Given the description of an element on the screen output the (x, y) to click on. 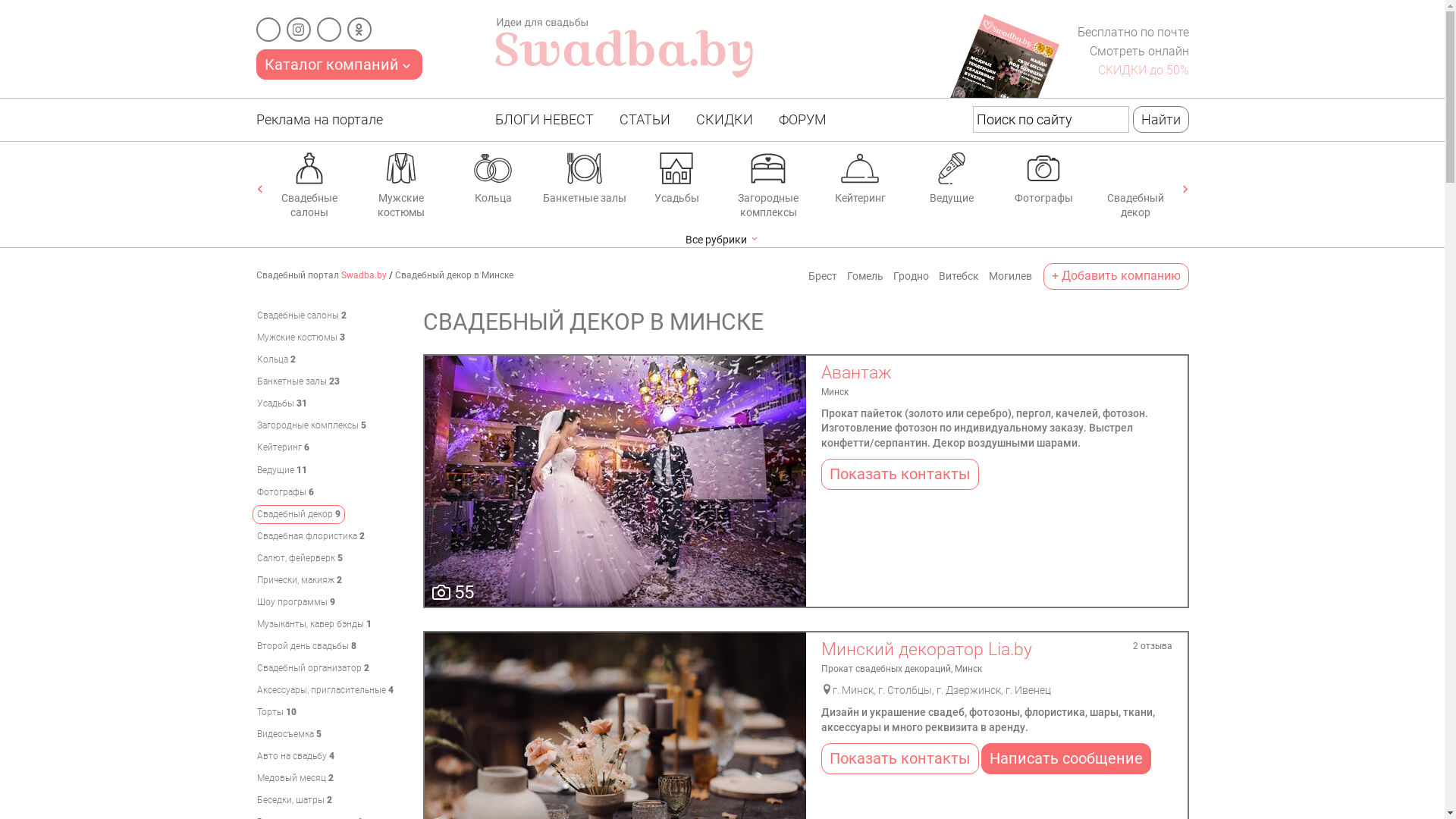
55 Element type: text (615, 480)
